Given the description of an element on the screen output the (x, y) to click on. 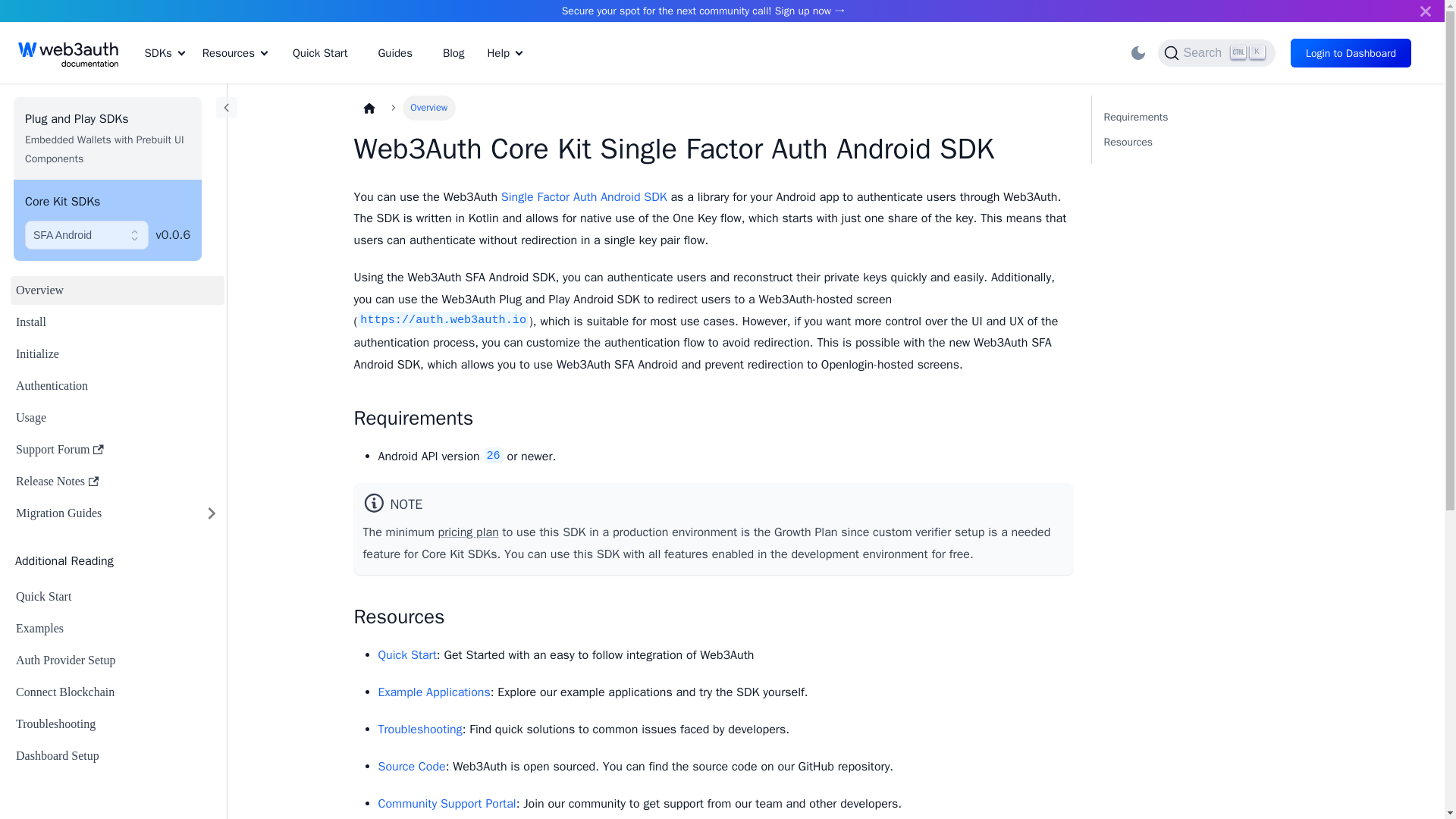
Resources (235, 56)
Collapse sidebar (226, 107)
SDKs (1203, 129)
